Given the description of an element on the screen output the (x, y) to click on. 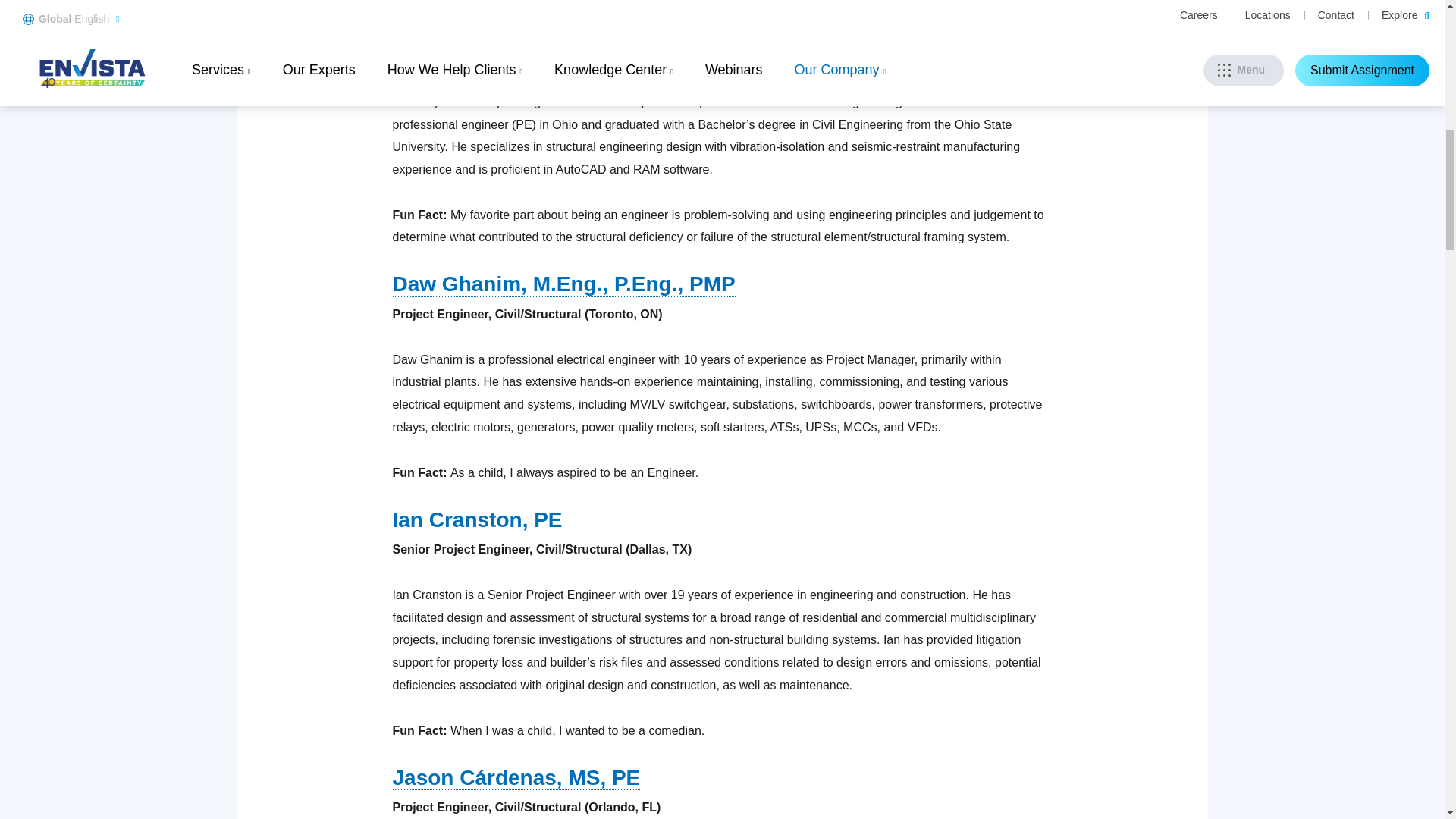
Ian Cranston, PE (477, 519)
Daw Ghanim, M.Eng., P.Eng., PMP (564, 283)
Dan Reyes (467, 26)
Daw Ghanim (564, 283)
Dan Reyes, PE (467, 26)
Ian Cranston (477, 519)
